Given the description of an element on the screen output the (x, y) to click on. 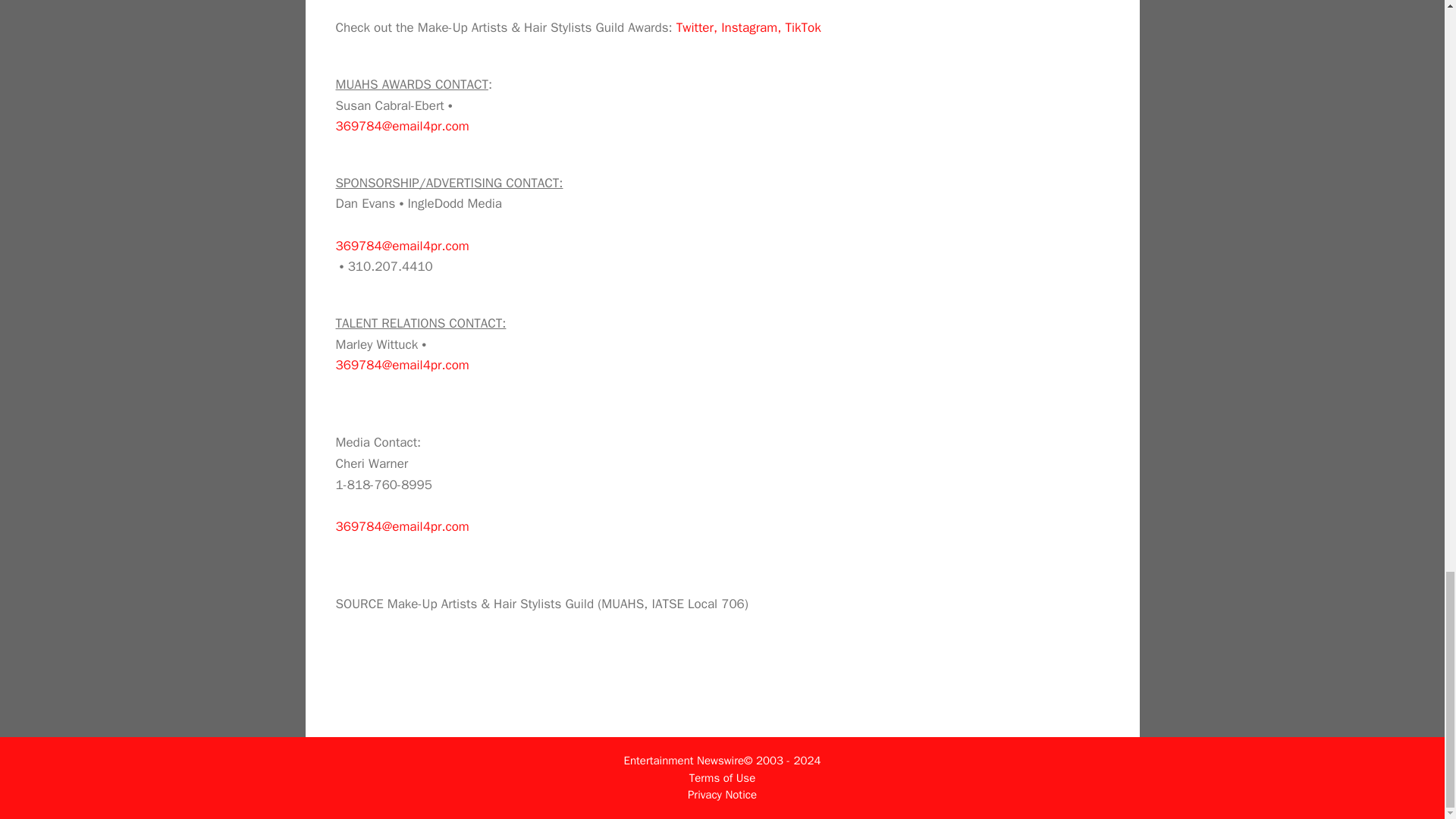
TikTok (802, 27)
Privacy Notice (722, 794)
Instagram, (750, 27)
Terms of Use (721, 777)
Twitter, (697, 27)
